Given the description of an element on the screen output the (x, y) to click on. 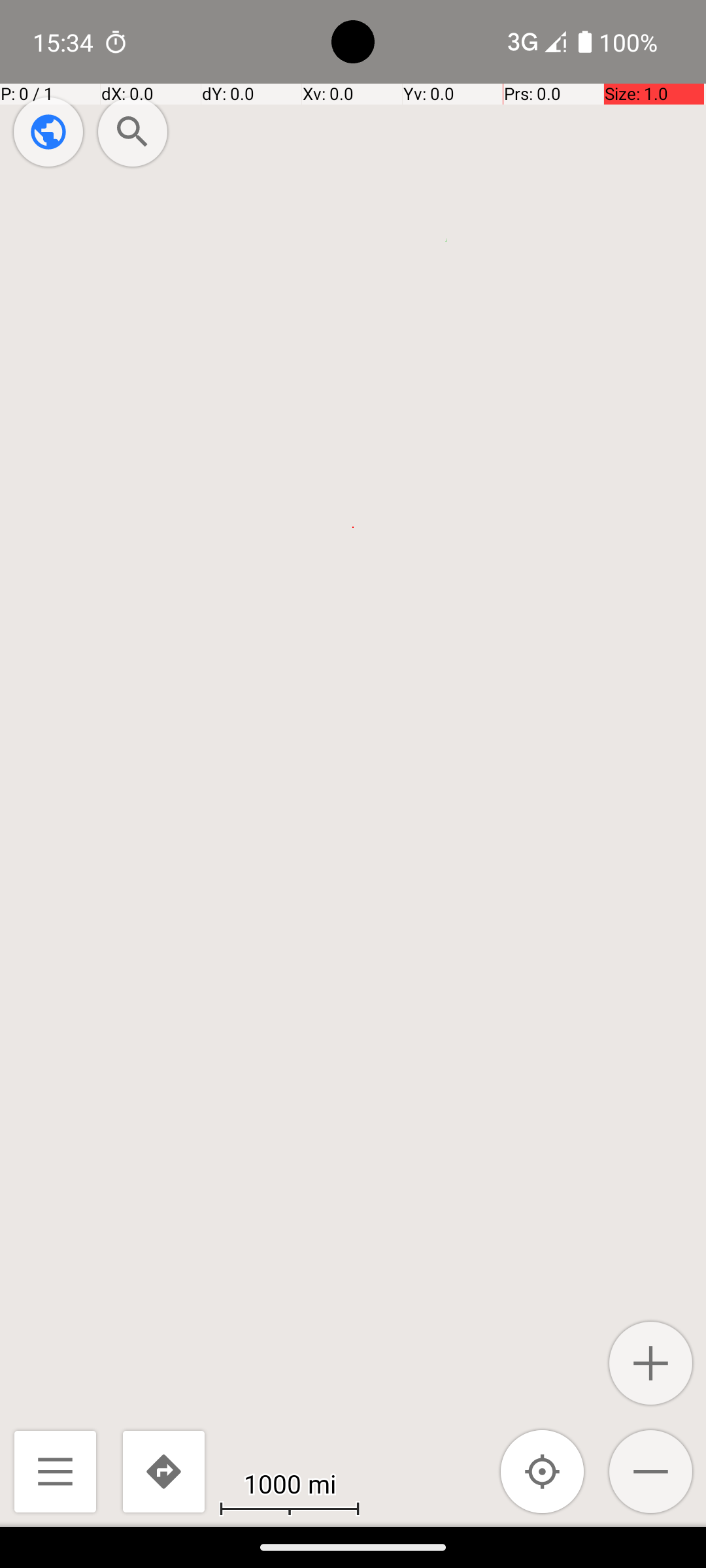
1000 mi Element type: android.widget.TextView (289, 1483)
